Given the description of an element on the screen output the (x, y) to click on. 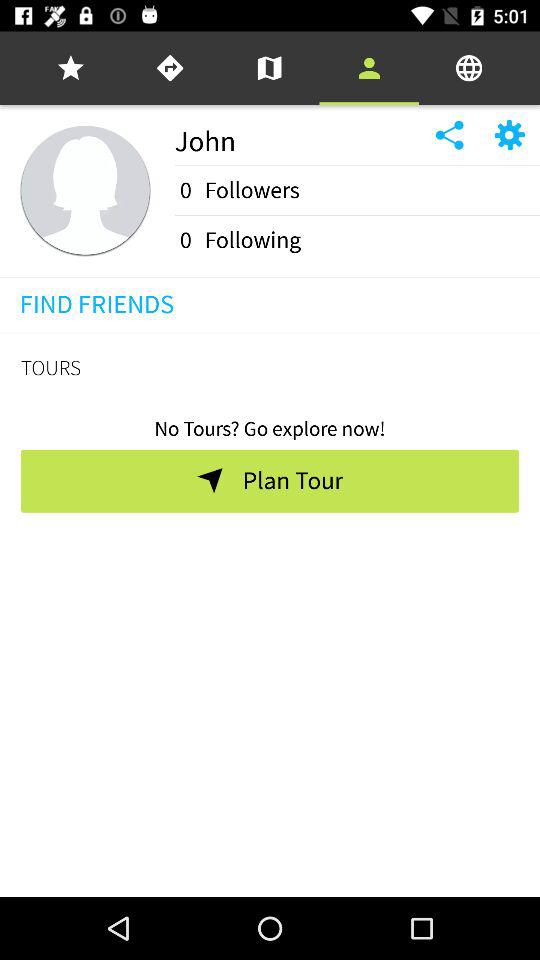
click item next to the 0 icon (252, 240)
